Given the description of an element on the screen output the (x, y) to click on. 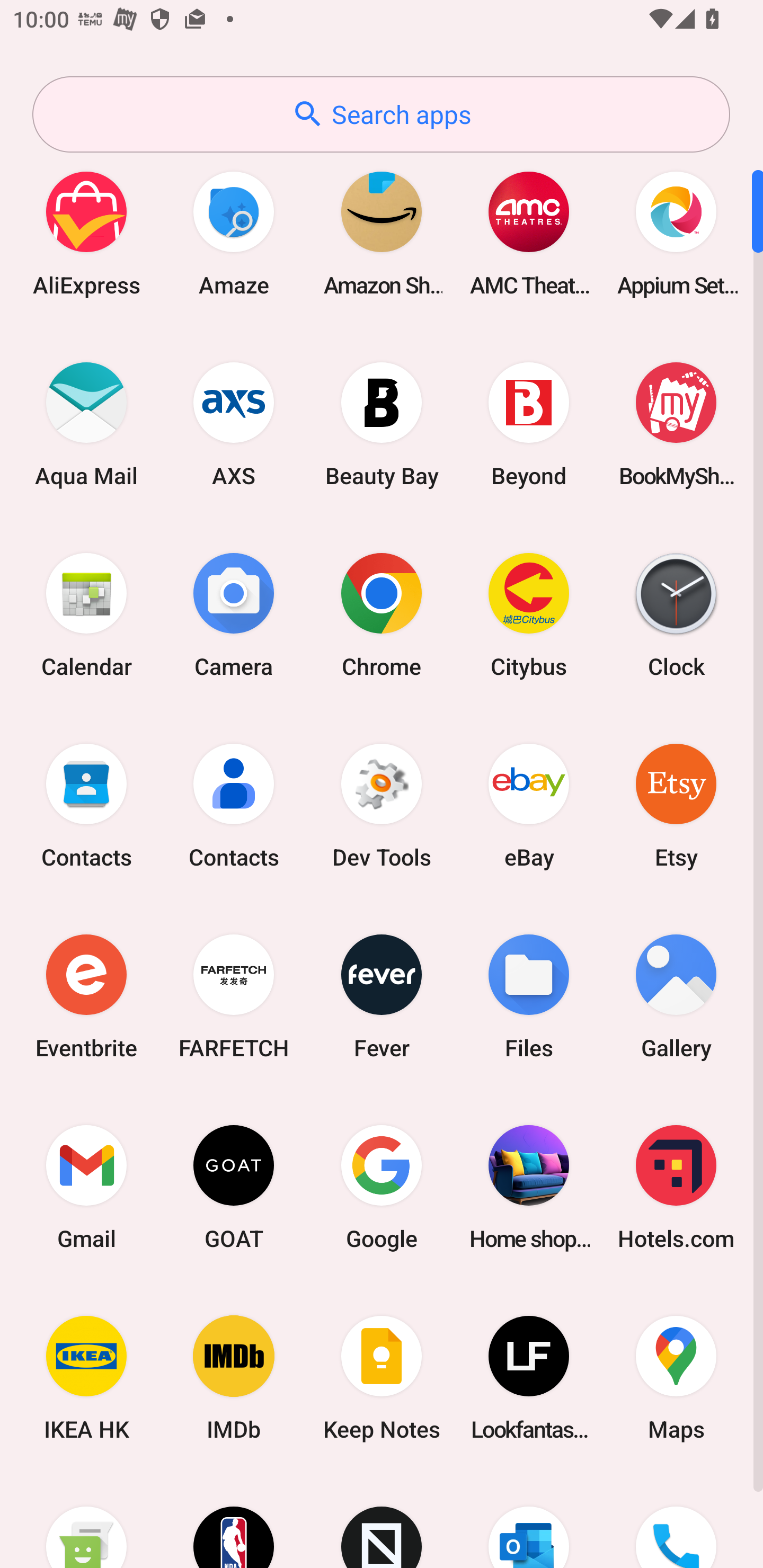
  Search apps (381, 114)
AliExpress (86, 233)
Amaze (233, 233)
Amazon Shopping (381, 233)
AMC Theatres (528, 233)
Appium Settings (676, 233)
Aqua Mail (86, 424)
AXS (233, 424)
Beauty Bay (381, 424)
Beyond (528, 424)
BookMyShow (676, 424)
Calendar (86, 614)
Camera (233, 614)
Chrome (381, 614)
Citybus (528, 614)
Clock (676, 614)
Contacts (86, 805)
Contacts (233, 805)
Dev Tools (381, 805)
eBay (528, 805)
Etsy (676, 805)
Eventbrite (86, 996)
FARFETCH (233, 996)
Fever (381, 996)
Files (528, 996)
Gallery (676, 996)
Gmail (86, 1186)
GOAT (233, 1186)
Google (381, 1186)
Home shopping (528, 1186)
Hotels.com (676, 1186)
IKEA HK (86, 1377)
IMDb (233, 1377)
Keep Notes (381, 1377)
Lookfantastic (528, 1377)
Maps (676, 1377)
